Given the description of an element on the screen output the (x, y) to click on. 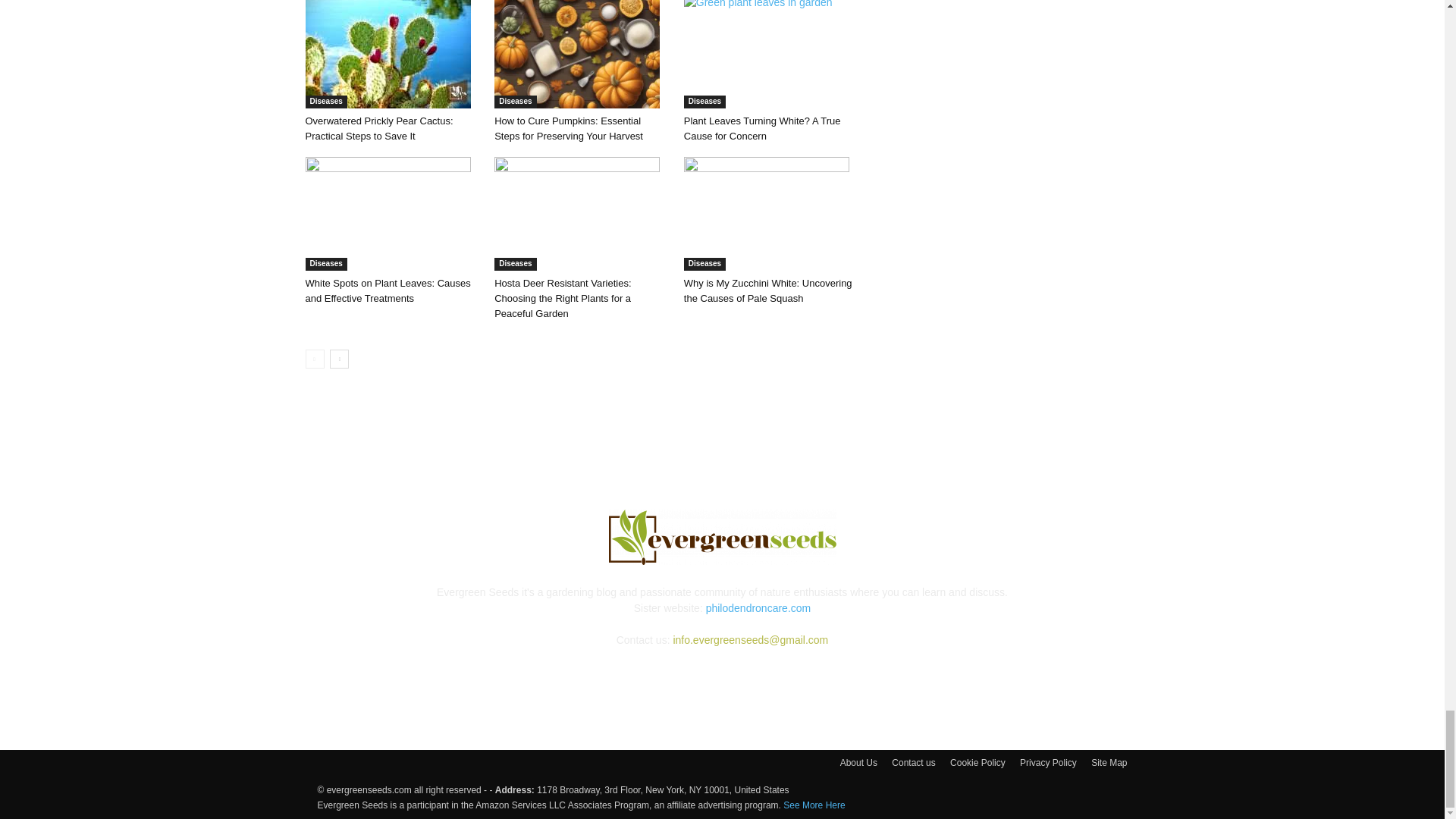
Overwatered Prickly Pear Cactus: Practical Steps to Save It (391, 54)
Overwatered Prickly Pear Cactus: Practical Steps to Save It (387, 54)
Overwatered Prickly Pear Cactus: Practical Steps to Save It (378, 128)
